Given the description of an element on the screen output the (x, y) to click on. 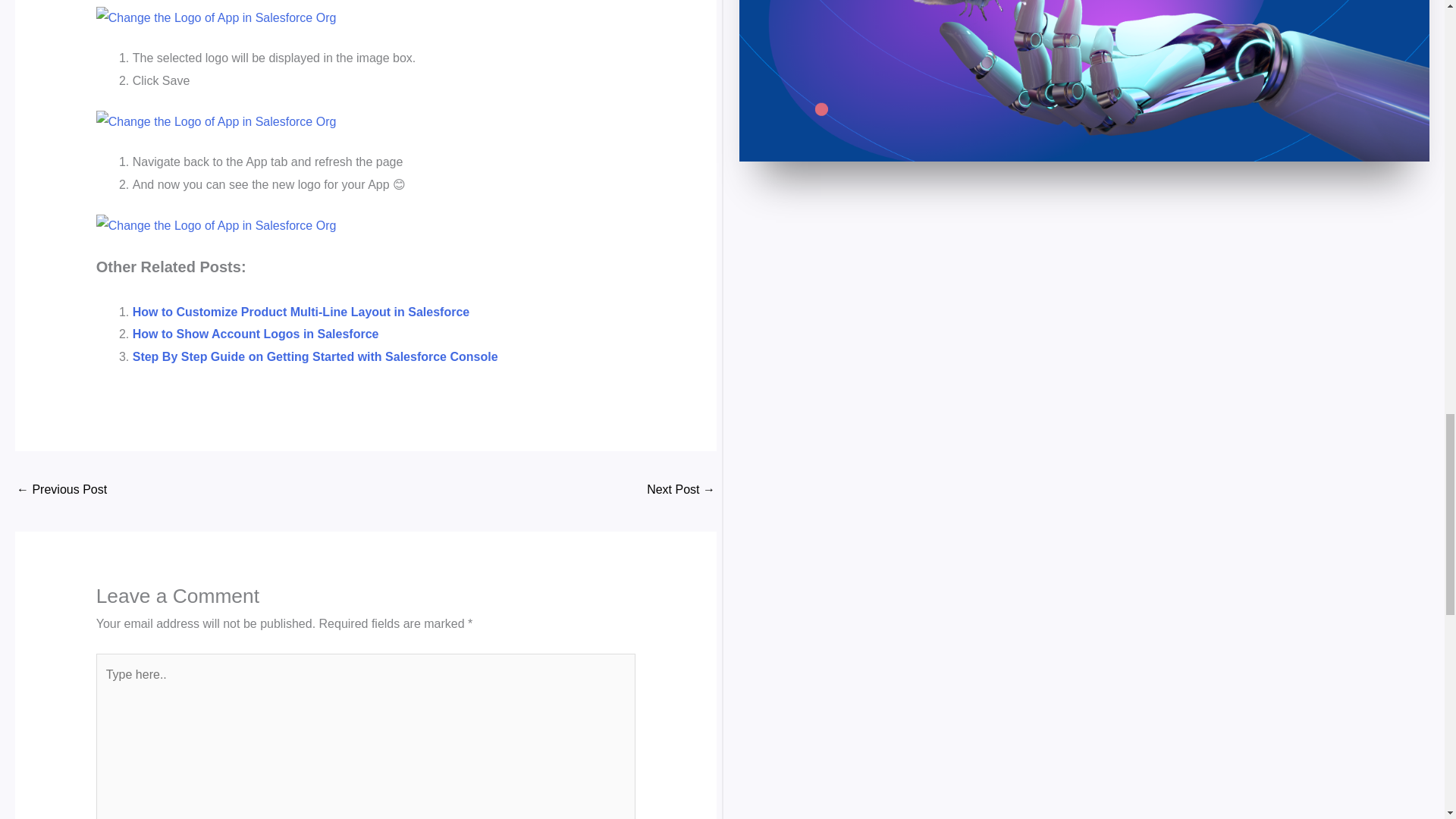
How to Customize Product Multi-Line Layout in Salesforce (300, 311)
How to Show Account Logos in Salesforce (255, 333)
